Given the description of an element on the screen output the (x, y) to click on. 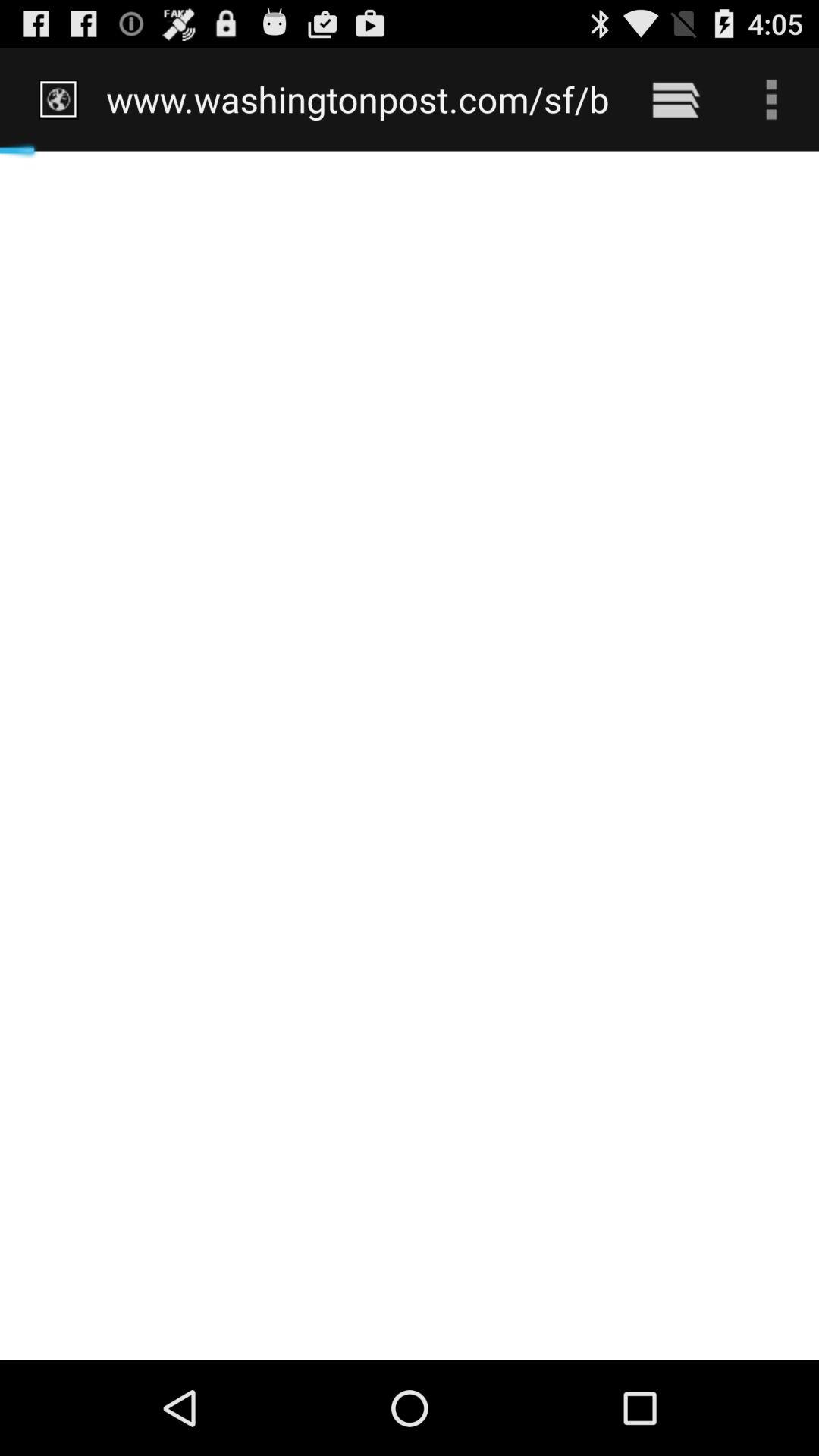
jump to the www washingtonpost com icon (357, 99)
